Given the description of an element on the screen output the (x, y) to click on. 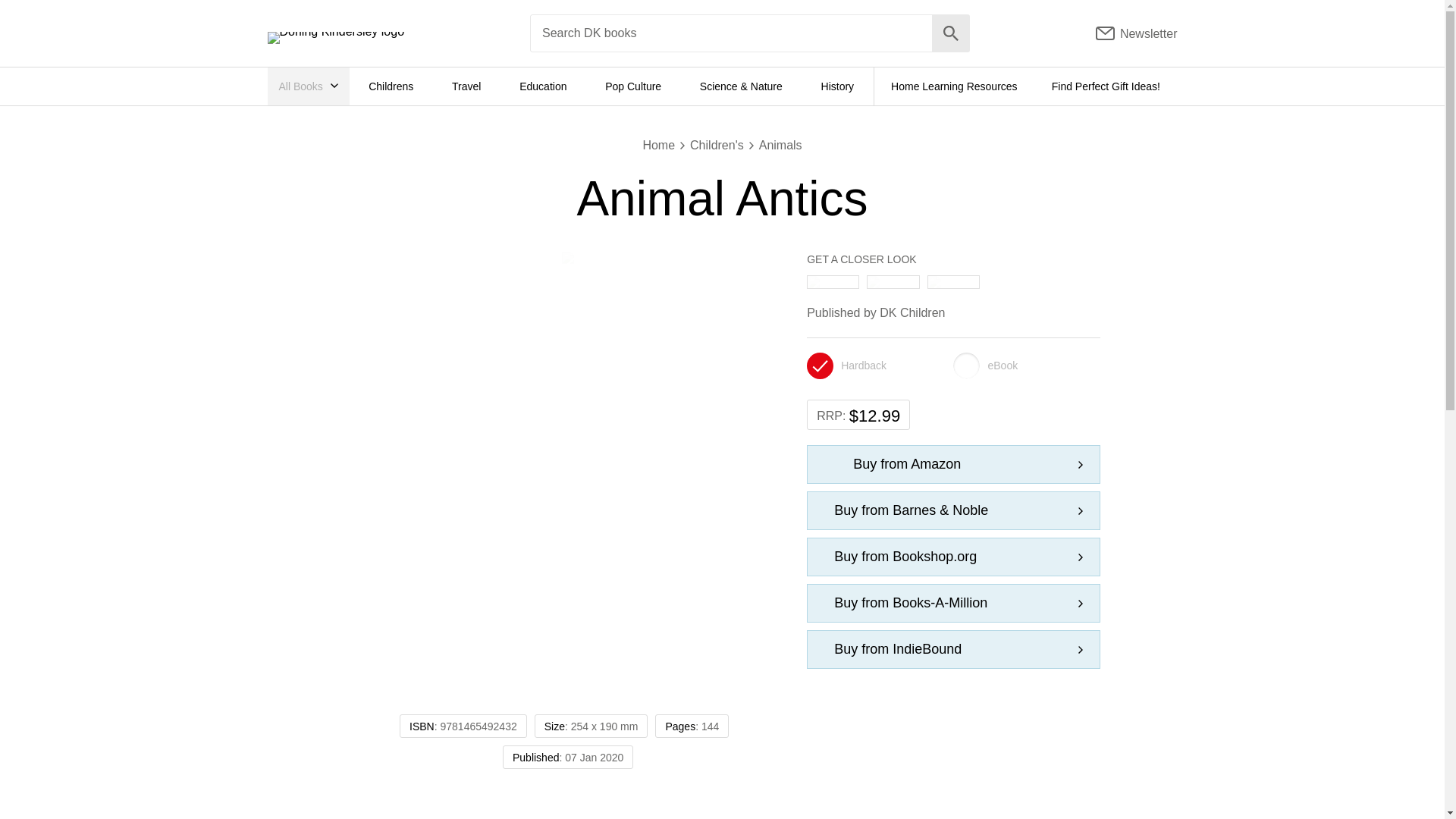
Pop Culture (633, 86)
Children's (717, 145)
All Books (307, 86)
Home (658, 145)
Travel (465, 86)
Buy Animal Antics from Books-A-Million (953, 602)
Animals (780, 145)
Education (542, 86)
Home Learning Resources (954, 86)
Animal Antics - thumbnail of spread image 1 (813, 282)
Newsletter (1136, 33)
Animal Antics - thumbnail of spread image 3 (934, 282)
History (837, 86)
Find Perfect Gift Ideas! (1105, 86)
GET A CLOSER LOOK (953, 270)
